Given the description of an element on the screen output the (x, y) to click on. 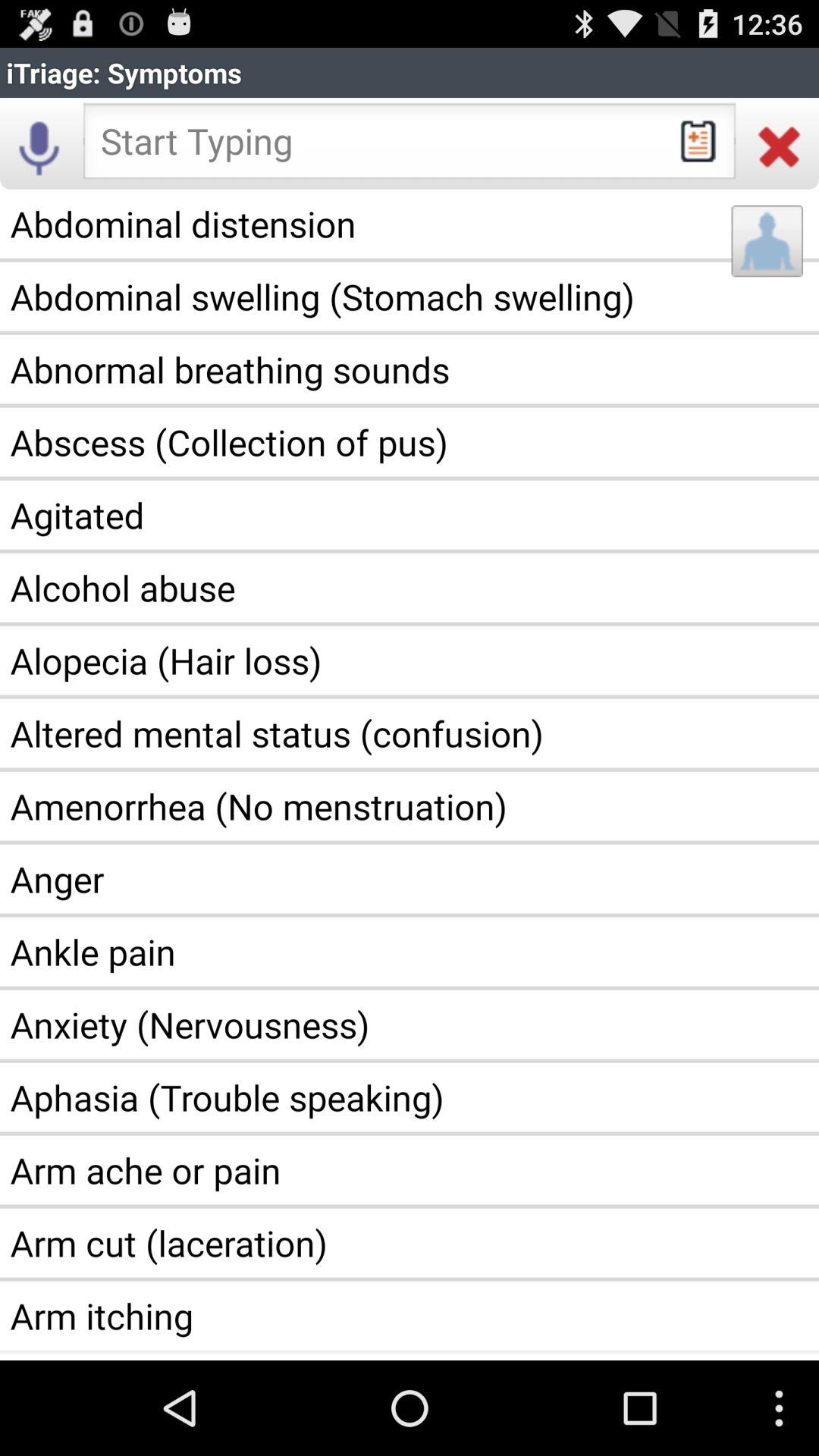
tap app below the altered mental status app (409, 806)
